Given the description of an element on the screen output the (x, y) to click on. 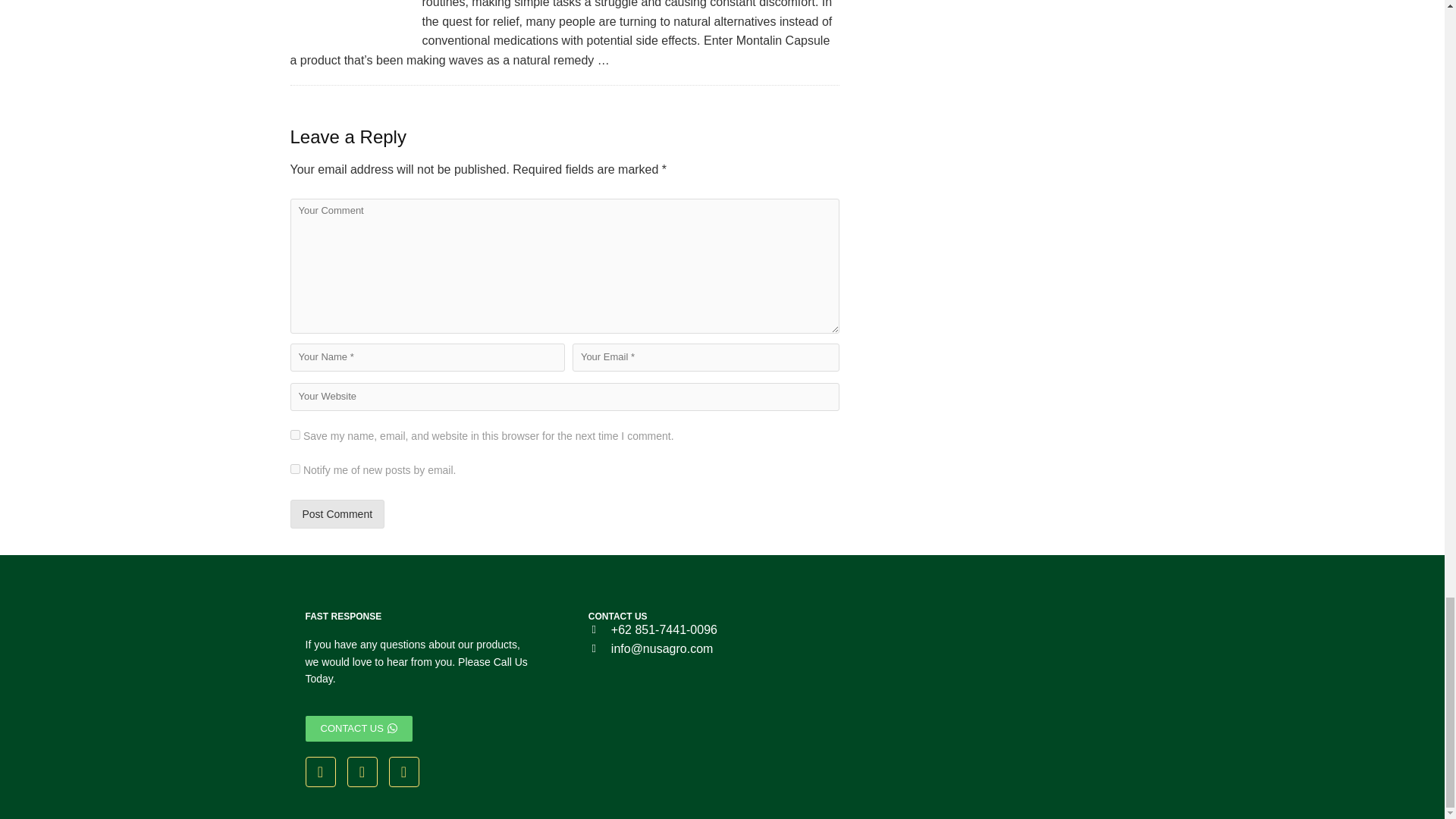
subscribe (294, 469)
Post Comment (336, 513)
yes (294, 434)
Post Comment (336, 513)
